Given the description of an element on the screen output the (x, y) to click on. 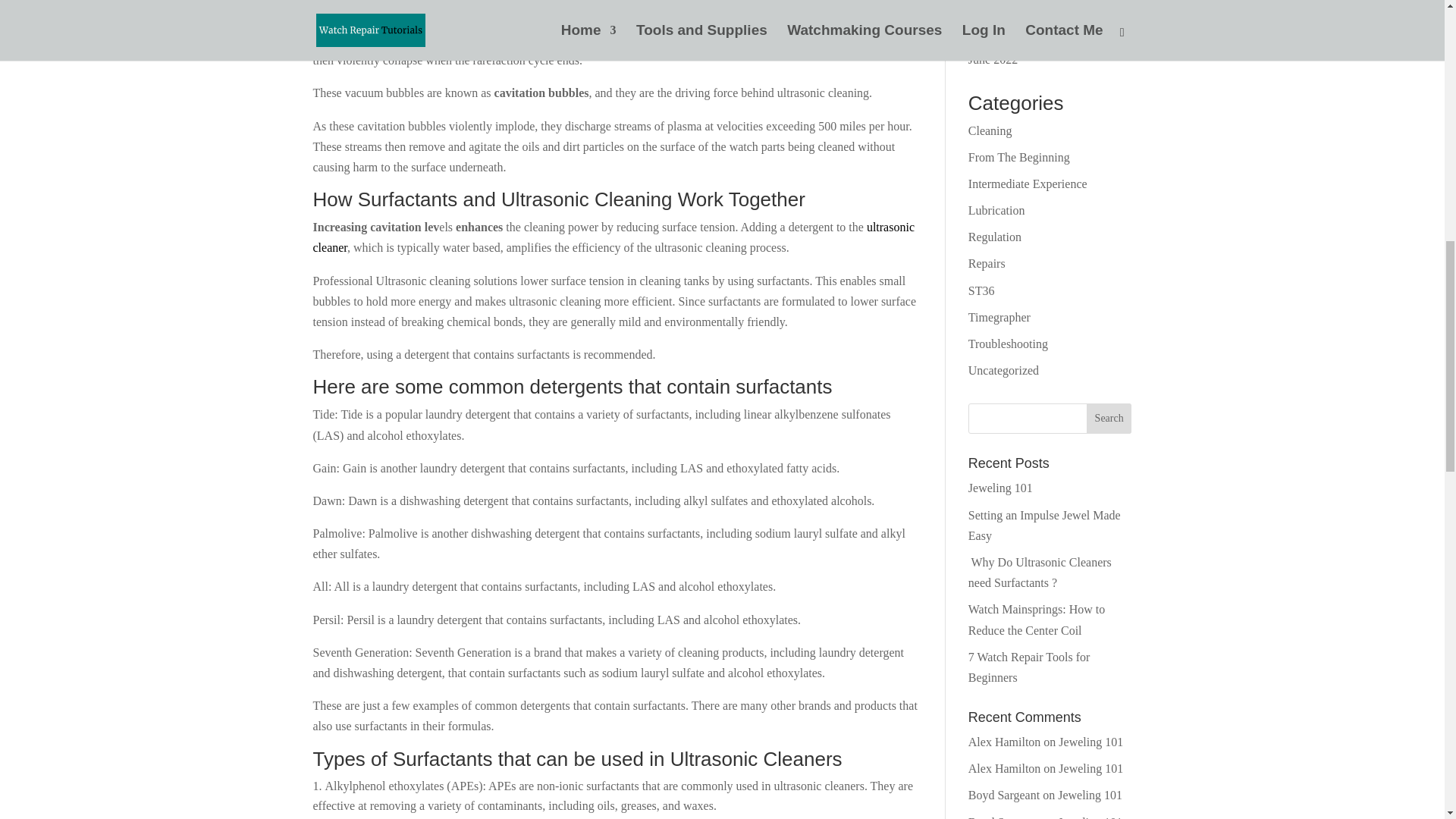
DK SONIC Ultrasonic Cleaner (613, 236)
Search (1109, 418)
ultrasonic cleaner (613, 236)
